Given the description of an element on the screen output the (x, y) to click on. 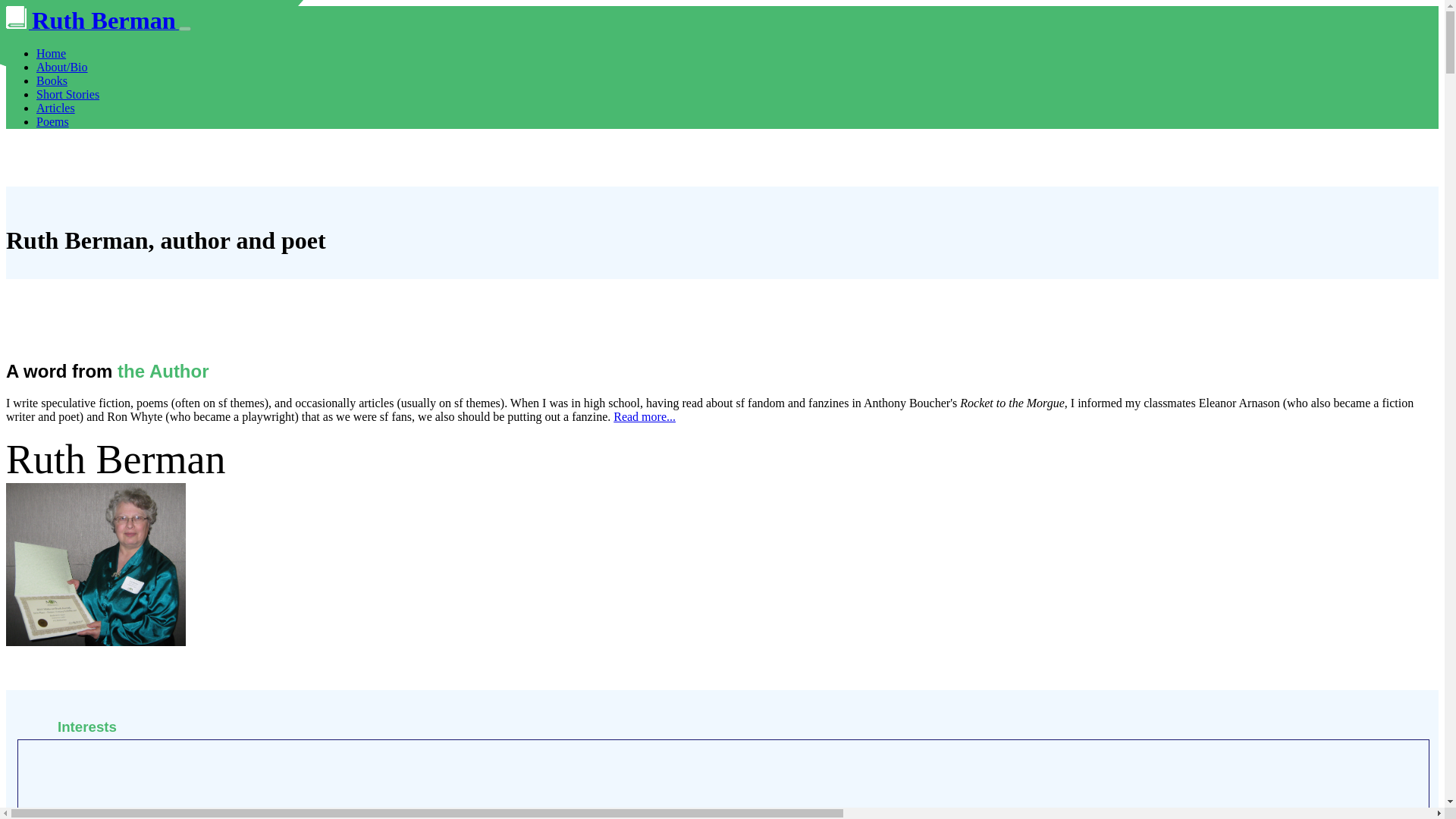
Home (50, 52)
Books (51, 80)
Ruth Berman (92, 24)
Articles (55, 107)
Read more... (643, 416)
Short Stories (67, 93)
Poems (52, 121)
